Given the description of an element on the screen output the (x, y) to click on. 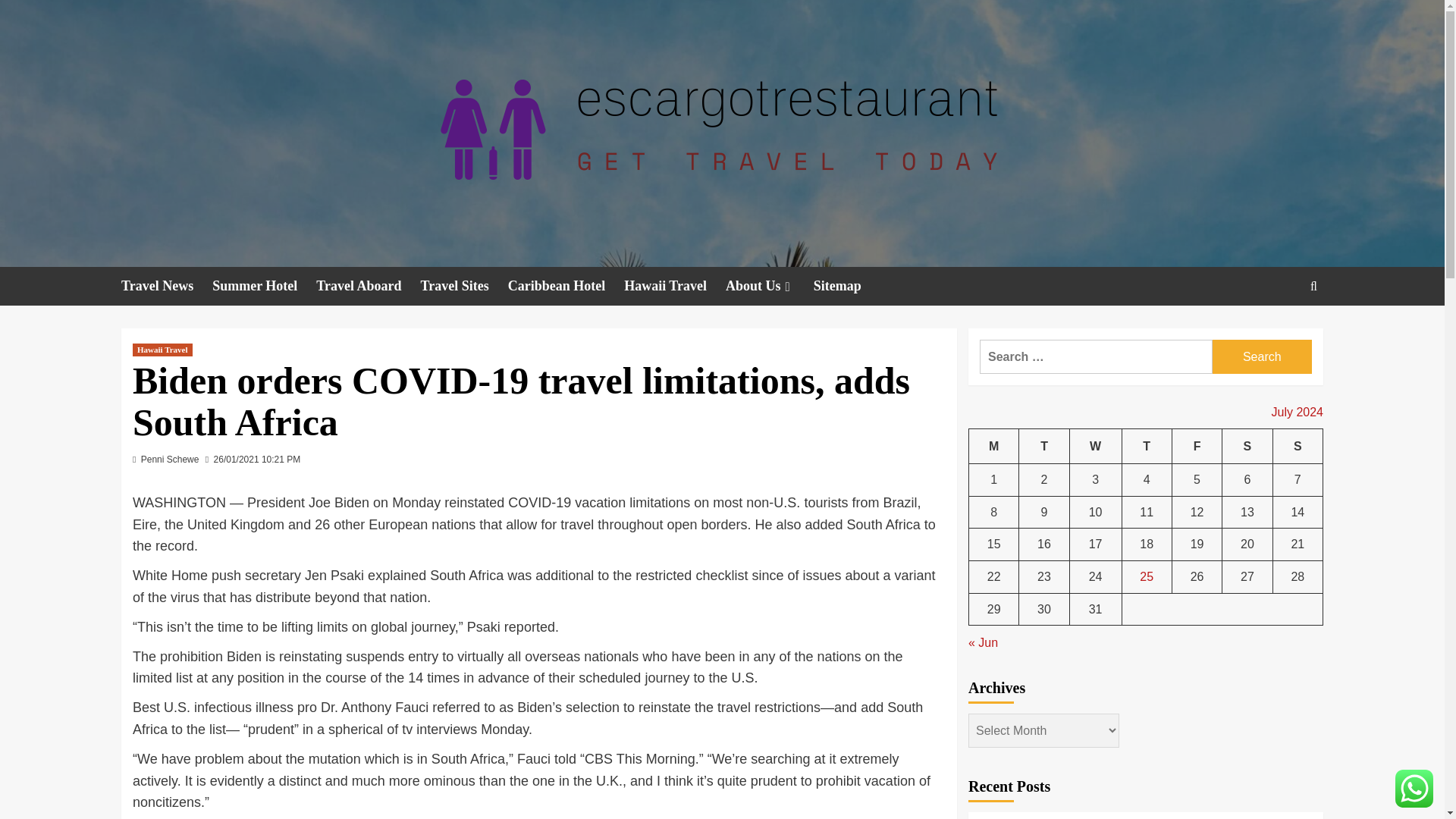
Travel Sites (463, 285)
Wednesday (1094, 446)
Sunday (1297, 446)
Hawaii Travel (162, 349)
Saturday (1247, 446)
Caribbean Hotel (566, 285)
Sitemap (846, 285)
Tuesday (1043, 446)
Search (1278, 332)
Monday (994, 446)
Thursday (1146, 446)
Search (1261, 356)
Penni Schewe (170, 459)
Search (1261, 356)
Travel News (166, 285)
